Given the description of an element on the screen output the (x, y) to click on. 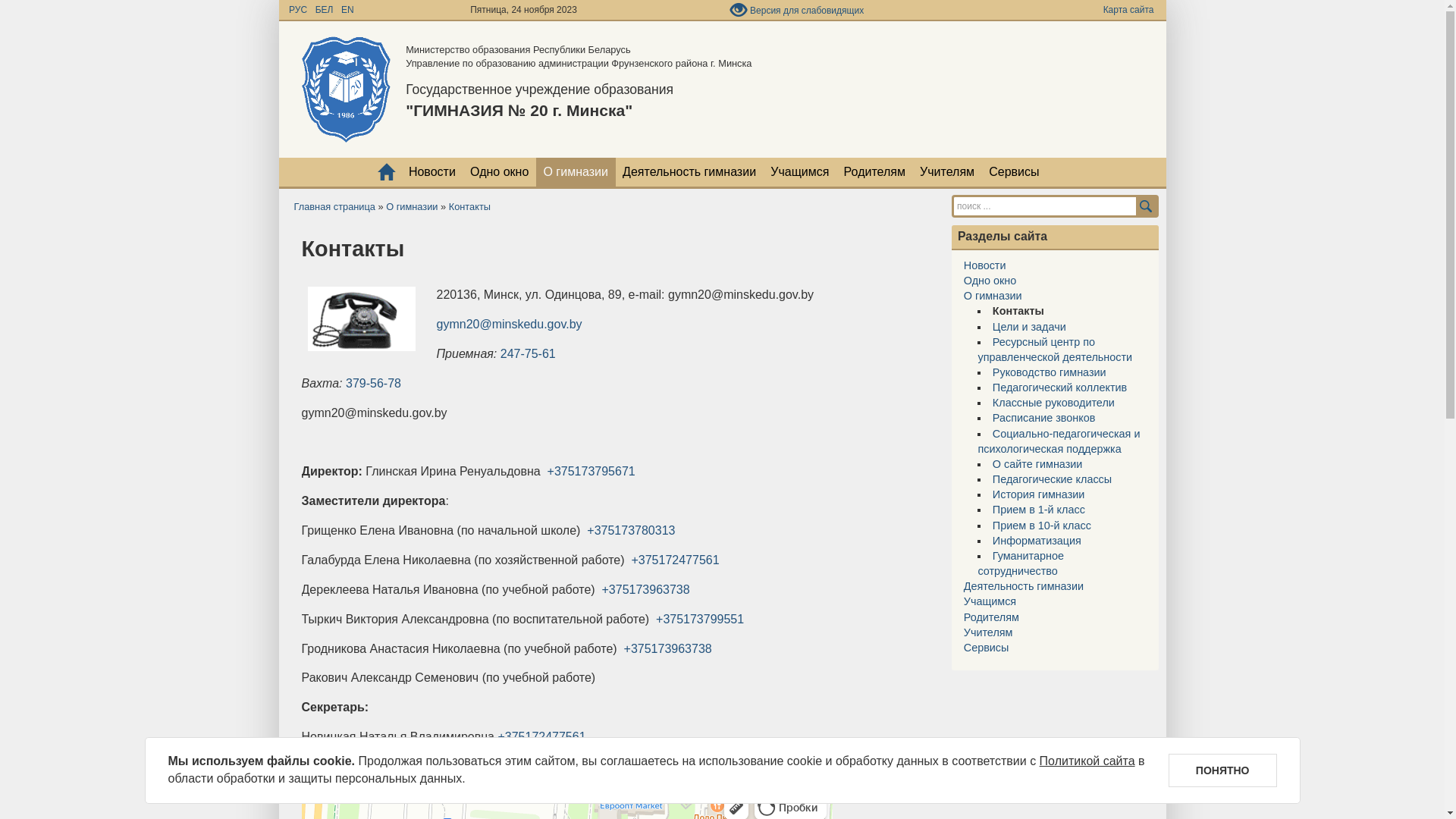
+375173799551 Element type: text (699, 618)
+375173963738 Element type: text (646, 589)
379-56-78 Element type: text (373, 382)
+375172477561 Element type: text (674, 559)
+375173963738 Element type: text (668, 647)
+375172477561 Element type: text (541, 736)
247-75-61 Element type: text (527, 353)
+375173780313 Element type: text (630, 530)
gymn20@minskedu.gov.by Element type: text (509, 323)
EN Element type: text (347, 9)
+375173795671 Element type: text (591, 470)
